Given the description of an element on the screen output the (x, y) to click on. 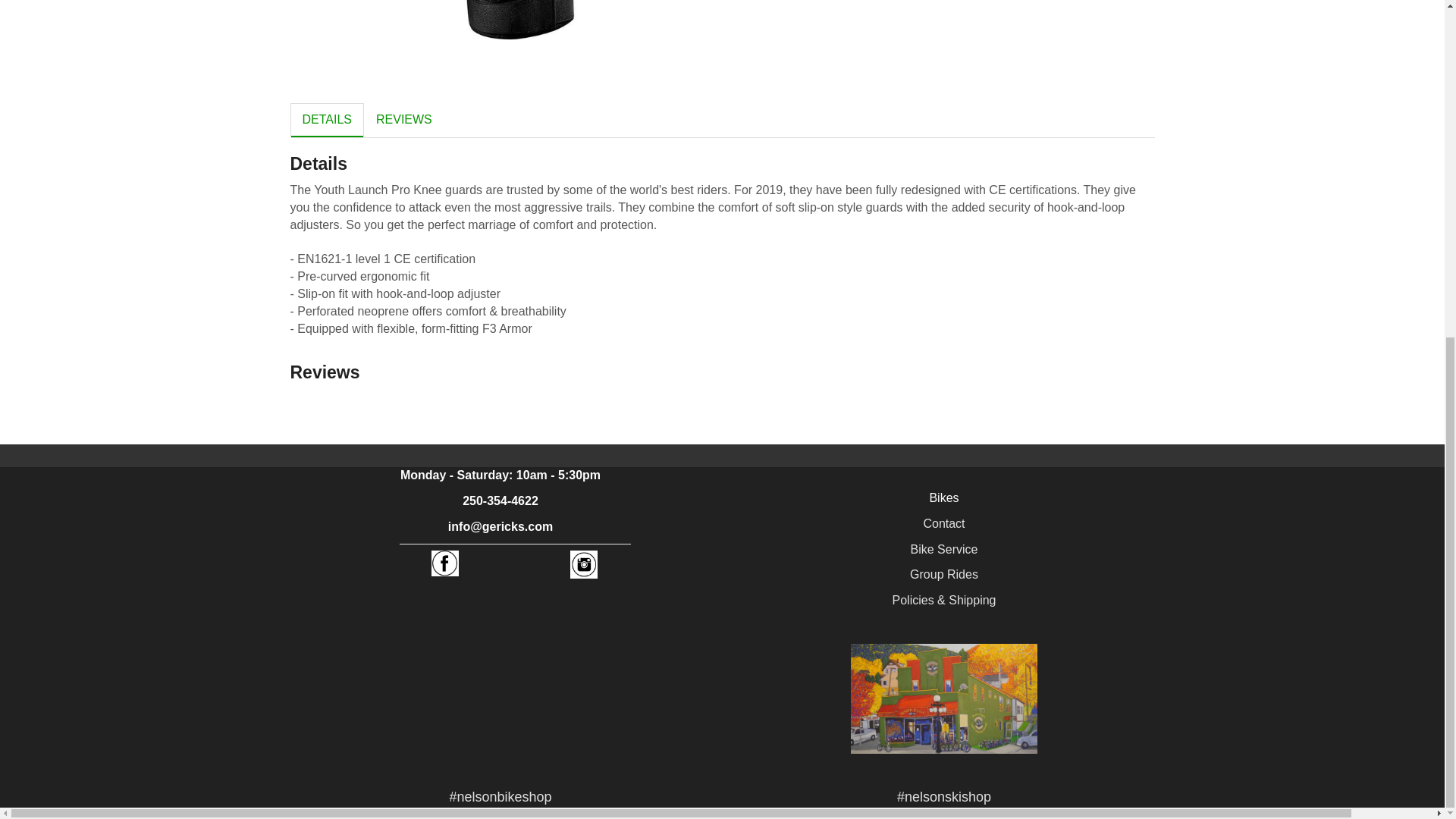
BIKES (943, 497)
Fox Racing Youth Launch Pro Knee Guard (500, 19)
BIKE SERVICE (944, 549)
GROUP RIDES (944, 574)
CONTACT (943, 522)
